Given the description of an element on the screen output the (x, y) to click on. 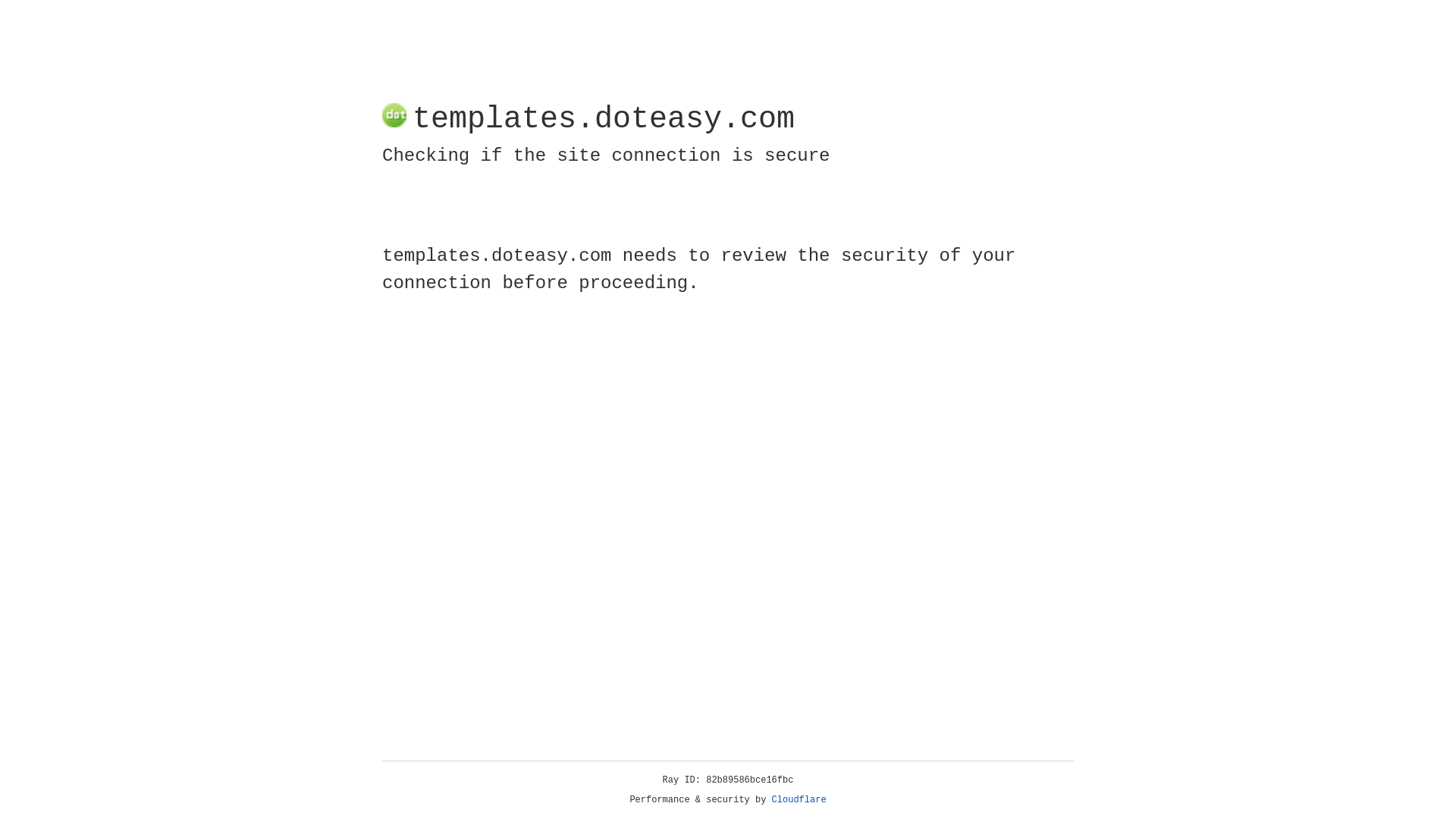
Cloudflare Element type: text (798, 799)
